Given the description of an element on the screen output the (x, y) to click on. 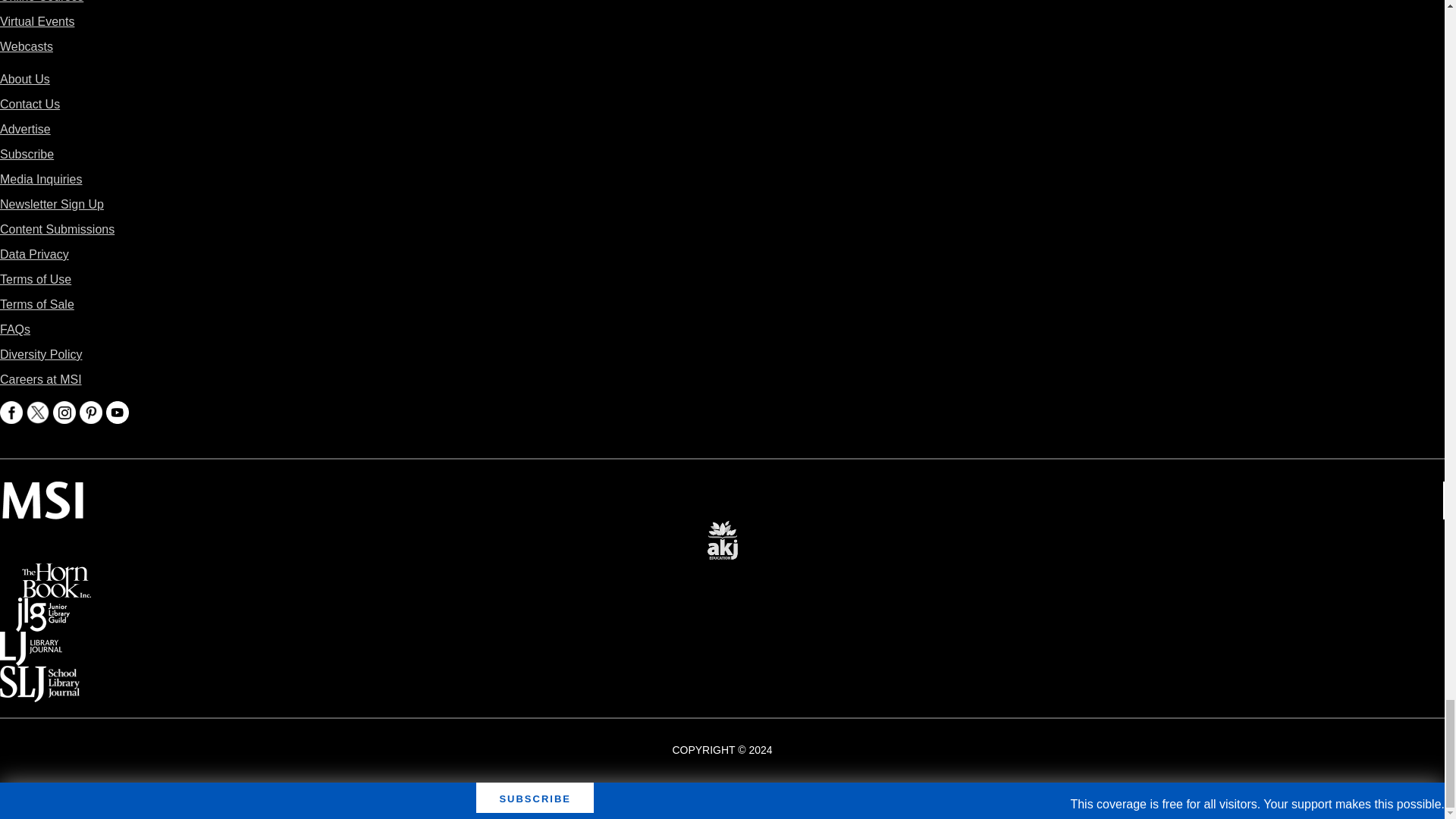
School Library Journal (40, 676)
Media Source Incorporated (42, 491)
The Horn Book (56, 573)
AKJ (722, 529)
Junior Library Guild (42, 607)
